Given the description of an element on the screen output the (x, y) to click on. 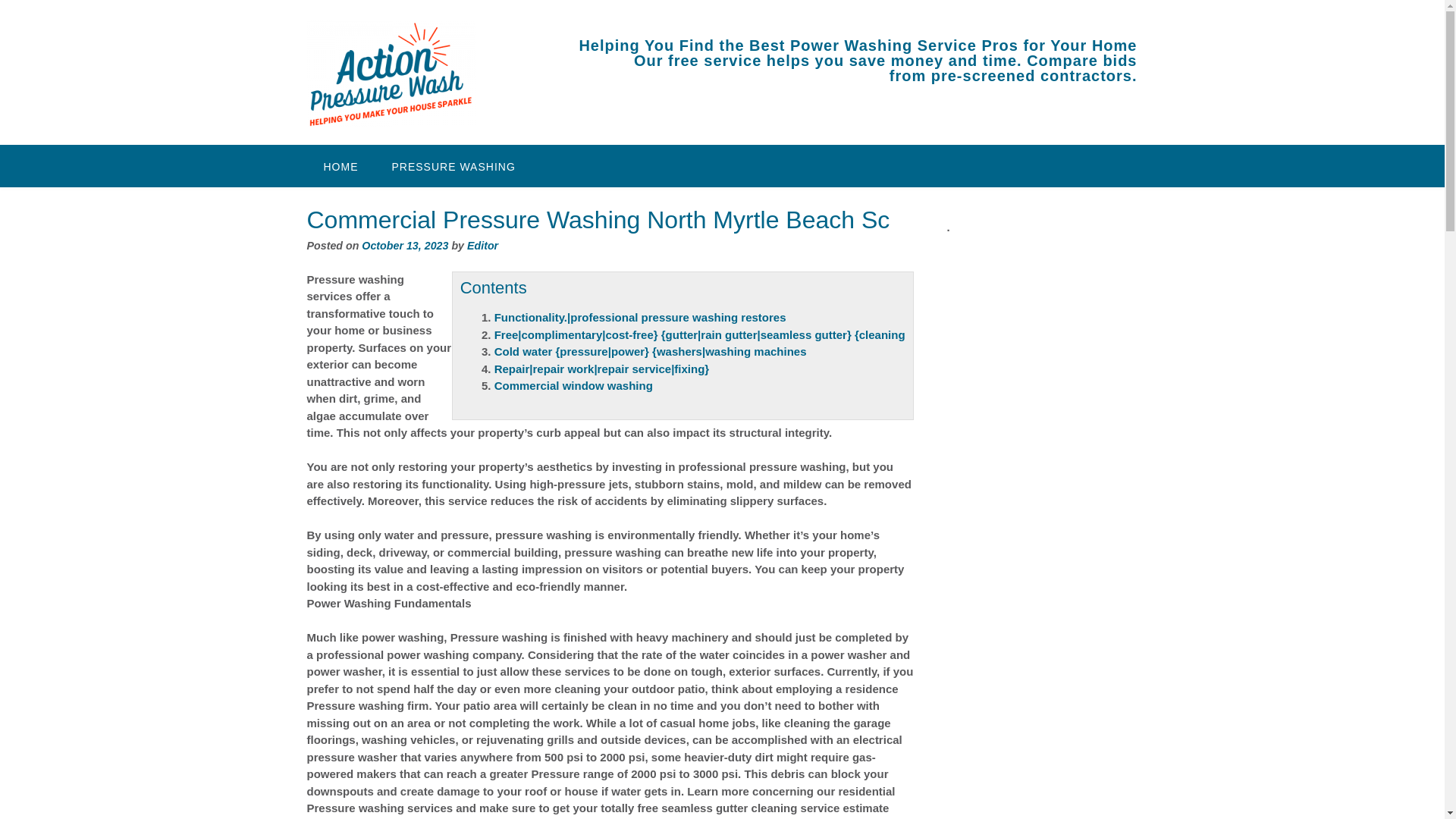
Commercial window washing (573, 385)
Editor (482, 245)
HOME (339, 165)
October 13, 2023 (404, 245)
PRESSURE WASHING (452, 165)
